Given the description of an element on the screen output the (x, y) to click on. 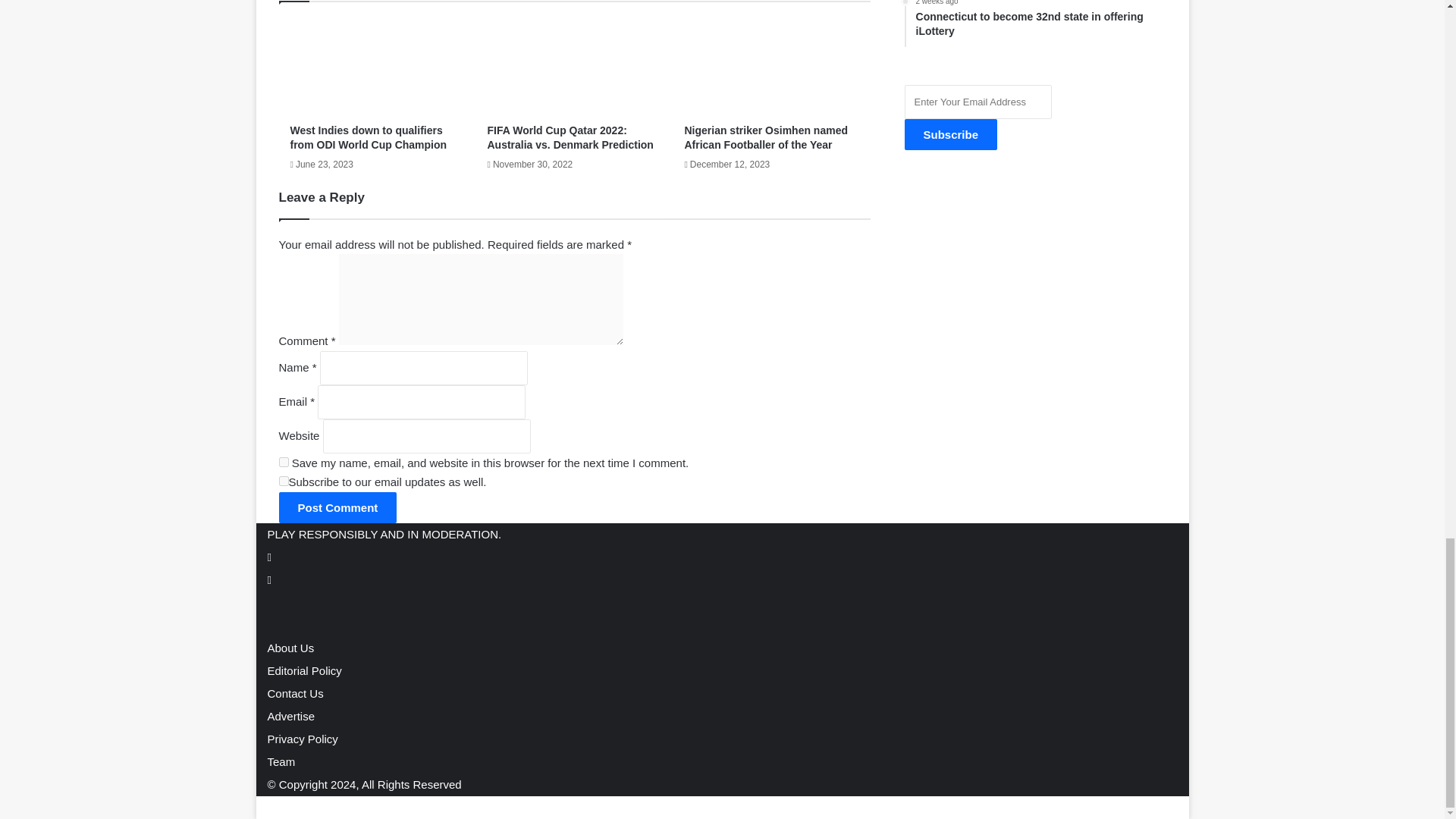
yes (283, 461)
Subscribe (950, 133)
yes (283, 480)
Post Comment (338, 507)
